Given the description of an element on the screen output the (x, y) to click on. 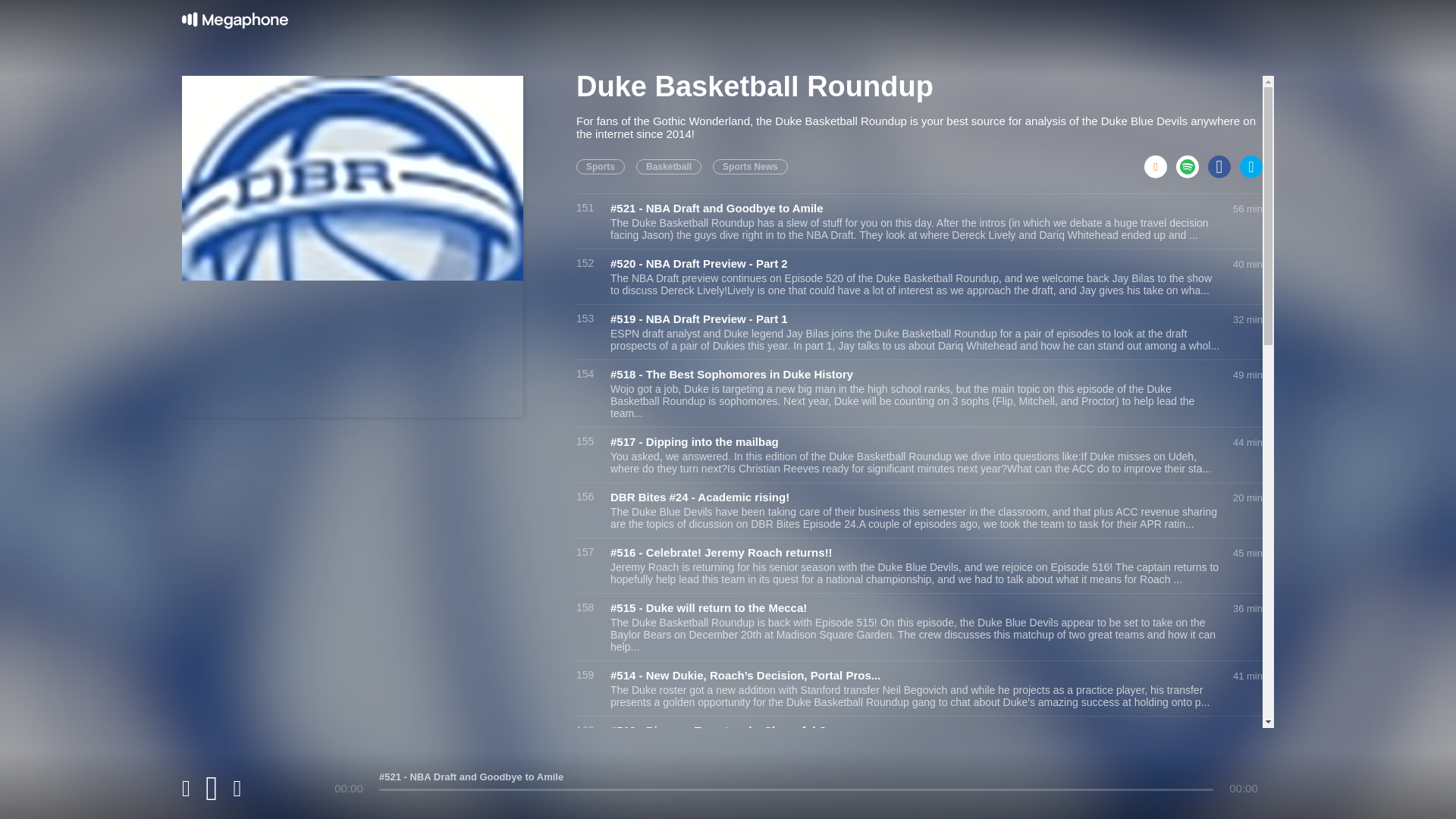
Share via Twitter (1251, 161)
Share via Facebook (1224, 161)
Subscribe via Spotify (1192, 161)
Subscribe via RSS (1160, 161)
